Given the description of an element on the screen output the (x, y) to click on. 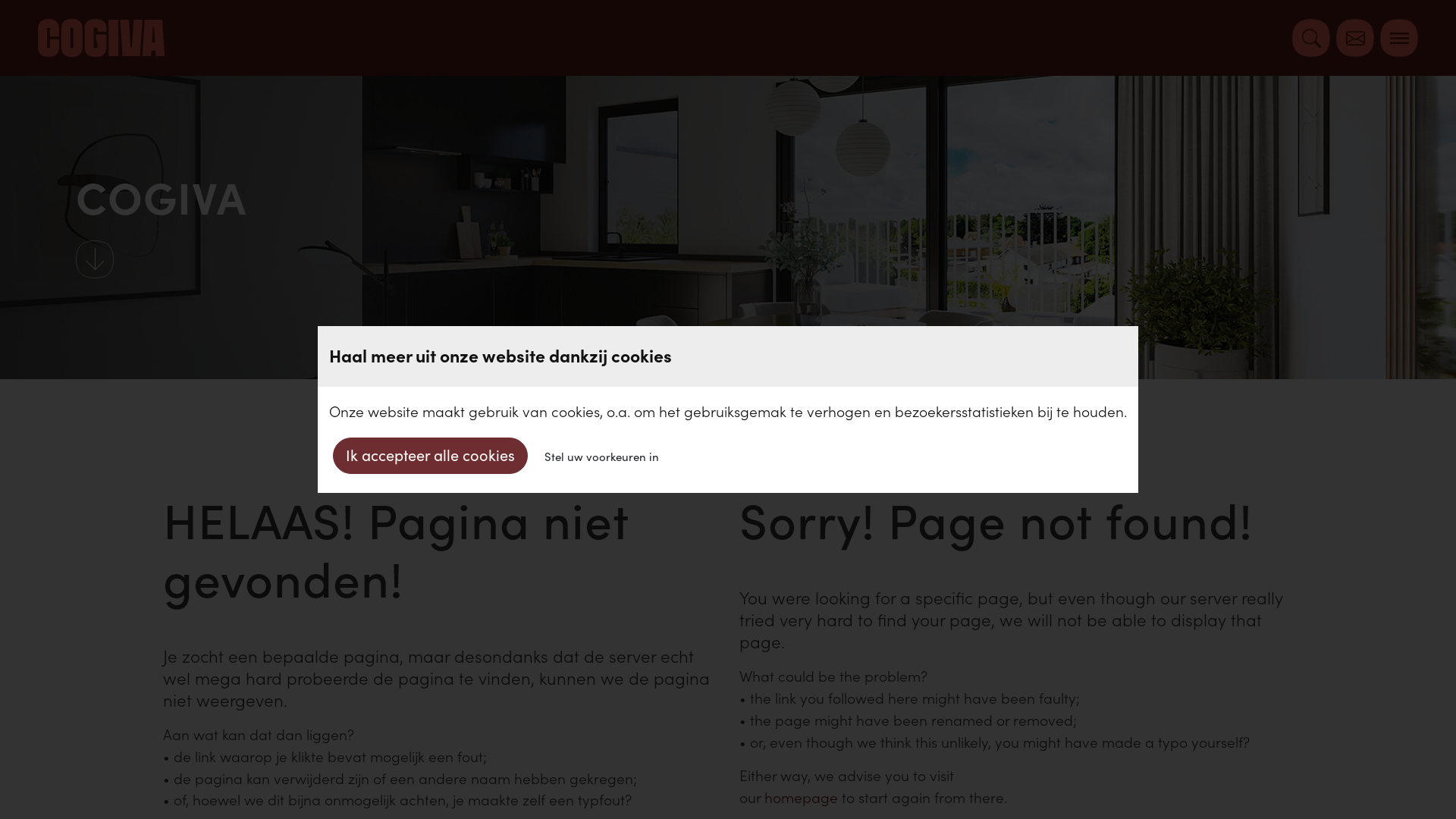
Ik accepteer alle cookies Element type: text (429, 455)
homepage Element type: text (800, 797)
Stel uw voorkeuren in Element type: text (601, 455)
